Given the description of an element on the screen output the (x, y) to click on. 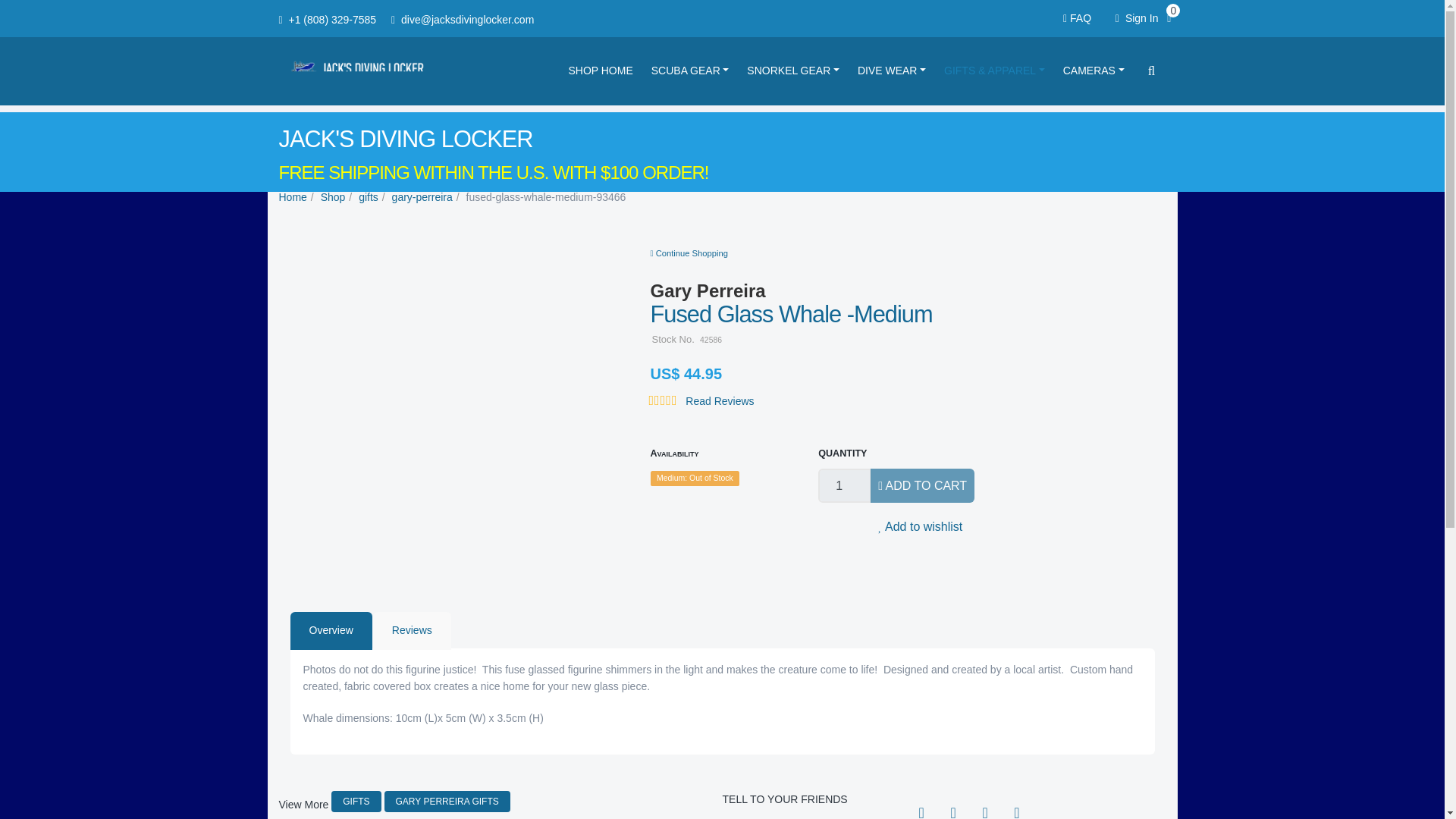
SHOP HOME (603, 70)
FAQ (1079, 18)
Facebook (920, 808)
Tumblr (1016, 808)
1 (844, 485)
LinkedIn (984, 808)
SCUBA GEAR (693, 70)
Twitter (952, 808)
DIVE WEAR (894, 70)
Sign In (1136, 18)
